Given the description of an element on the screen output the (x, y) to click on. 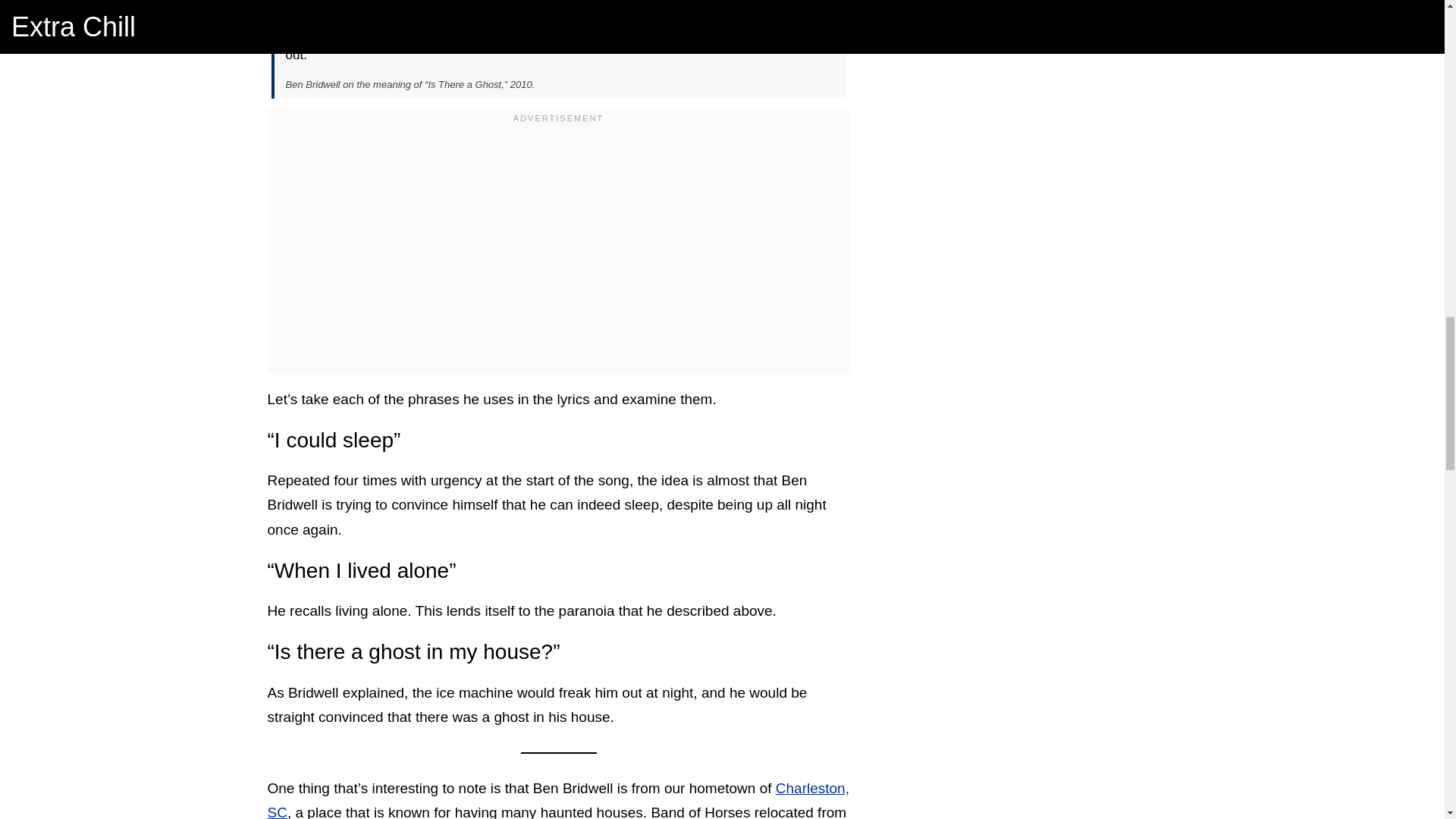
Charleston, SC (557, 799)
